Given the description of an element on the screen output the (x, y) to click on. 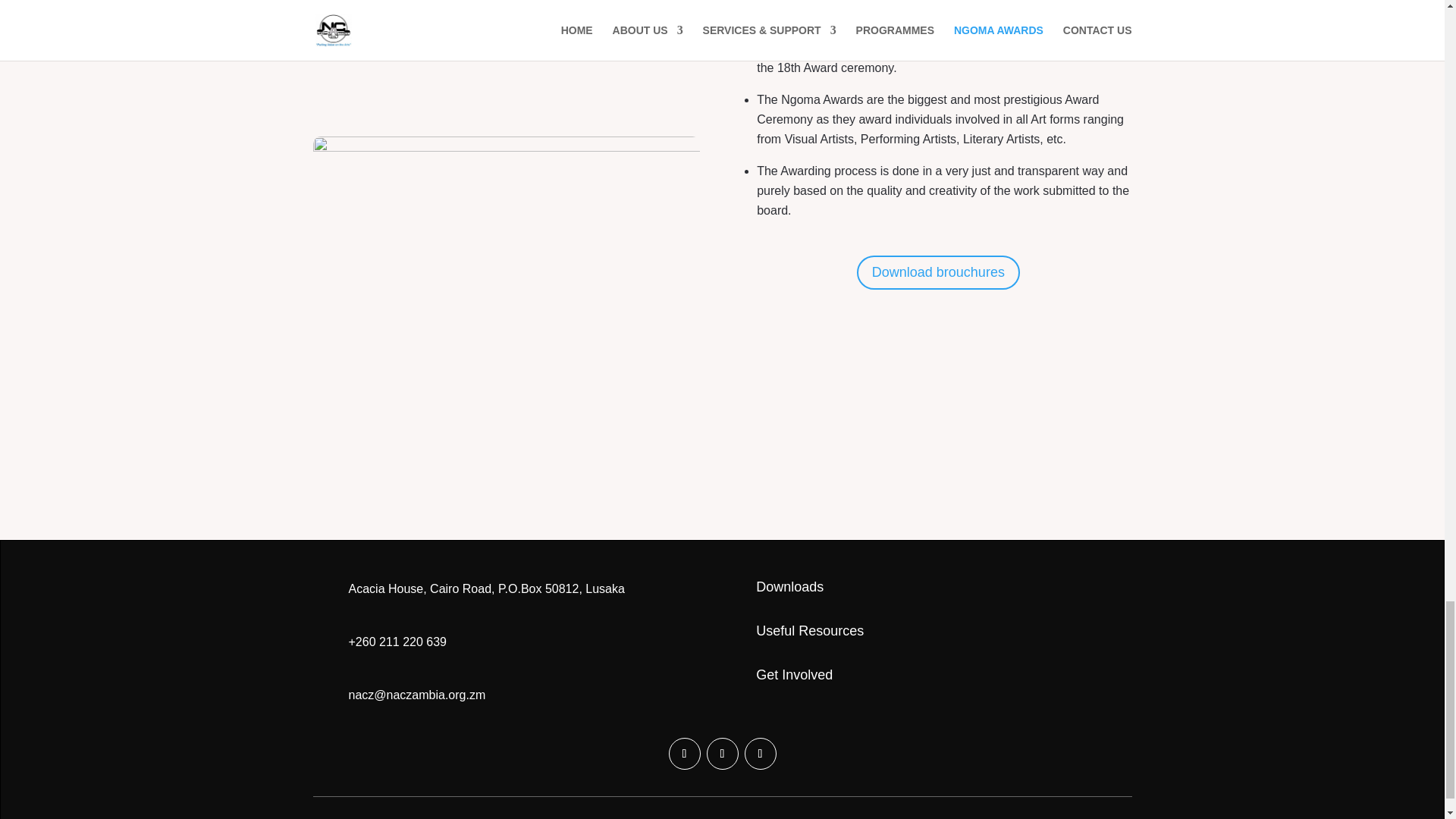
Download brouchures (938, 272)
Useful Resources (809, 630)
Get Involved (793, 674)
Downloads (789, 586)
